Given the description of an element on the screen output the (x, y) to click on. 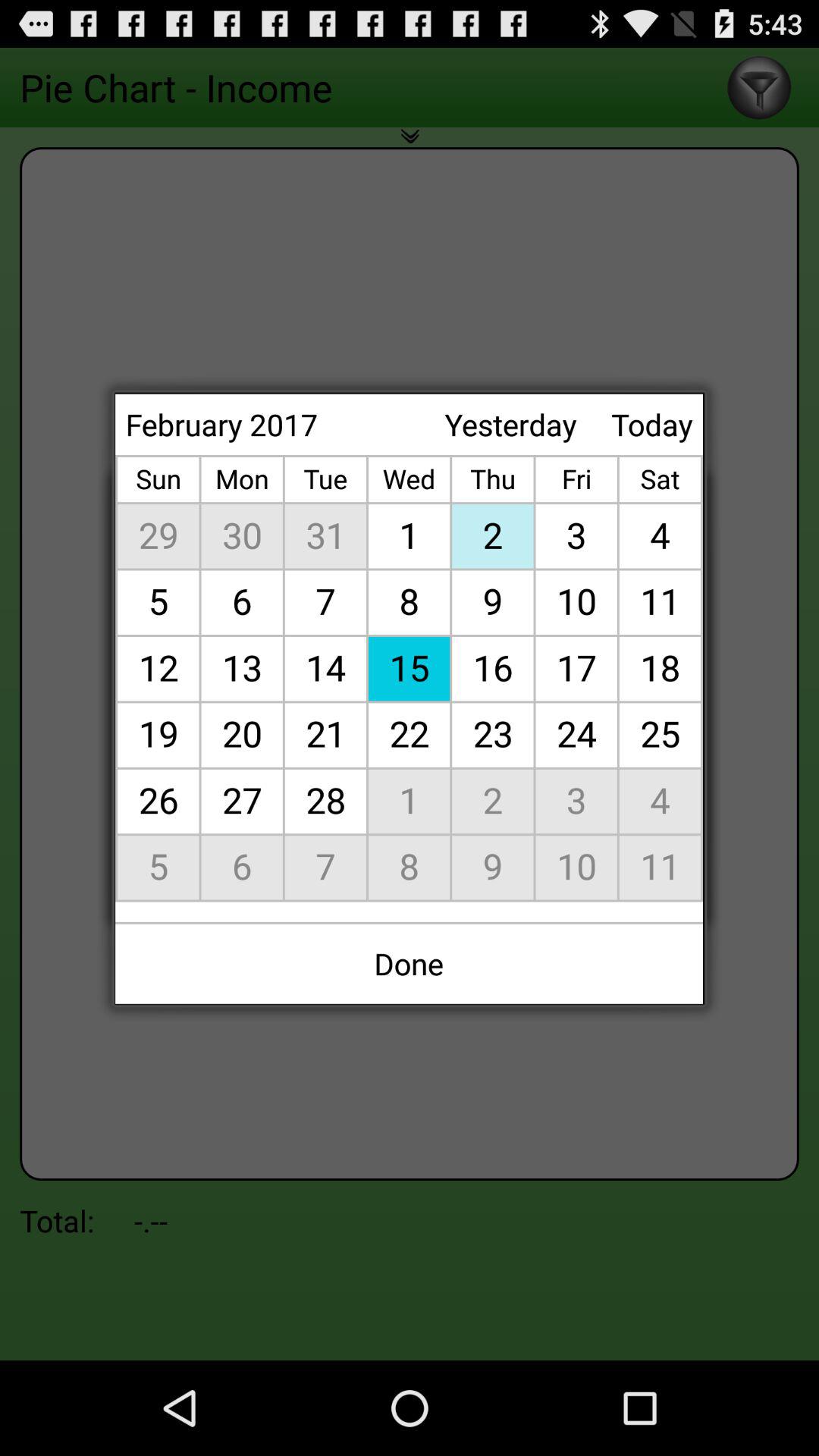
click icon to the left of the today icon (510, 424)
